Given the description of an element on the screen output the (x, y) to click on. 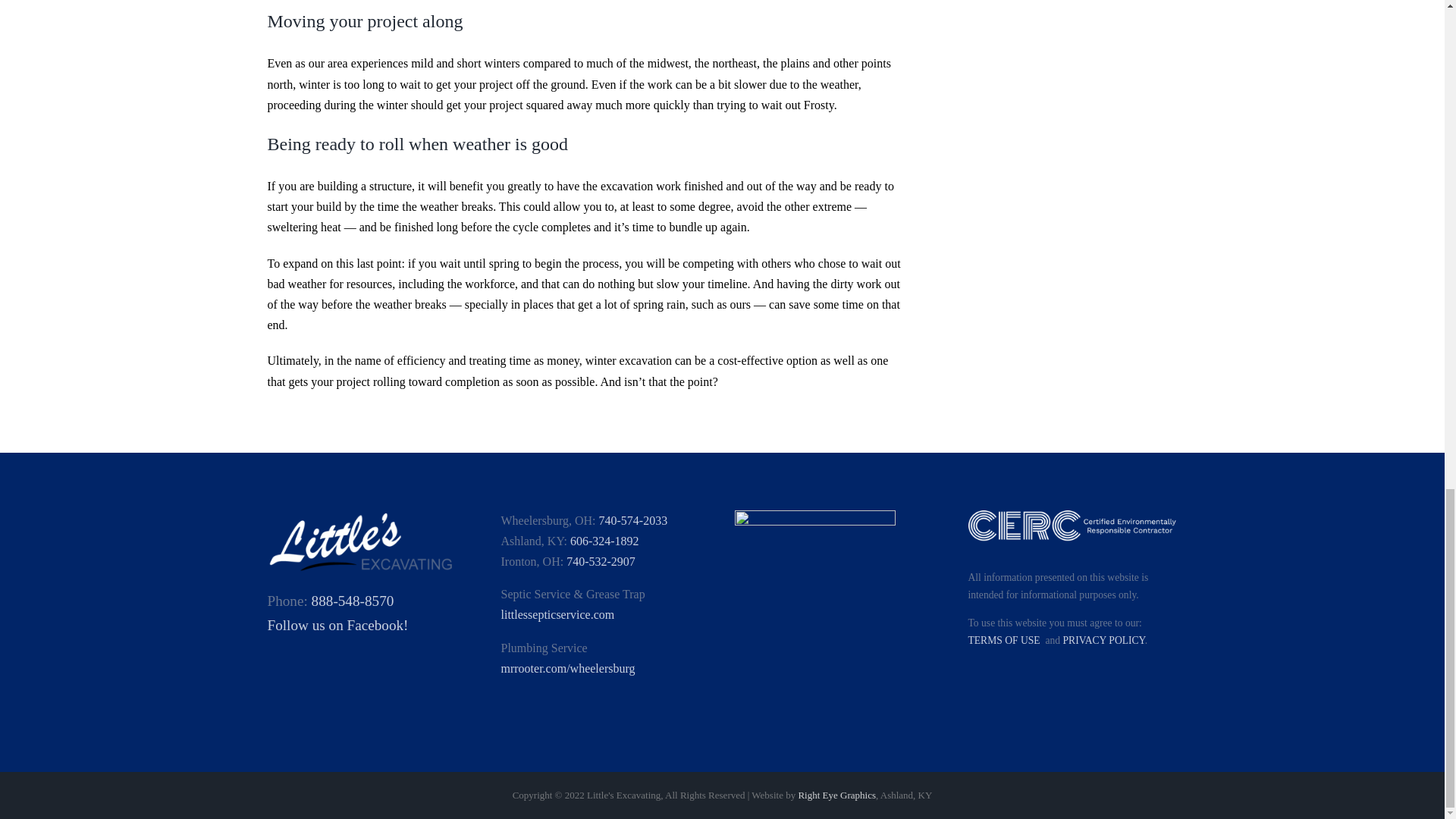
740-532-2907 (600, 561)
PRIVACY POLICY (1103, 640)
Right Eye Graphics (836, 794)
TERMS OF USE (1003, 640)
Follow us on Facebook! (336, 625)
740-574-2033 (633, 520)
888-548-8570 (352, 600)
606-324-1892 (604, 540)
littlessepticservice.com (557, 614)
